Given the description of an element on the screen output the (x, y) to click on. 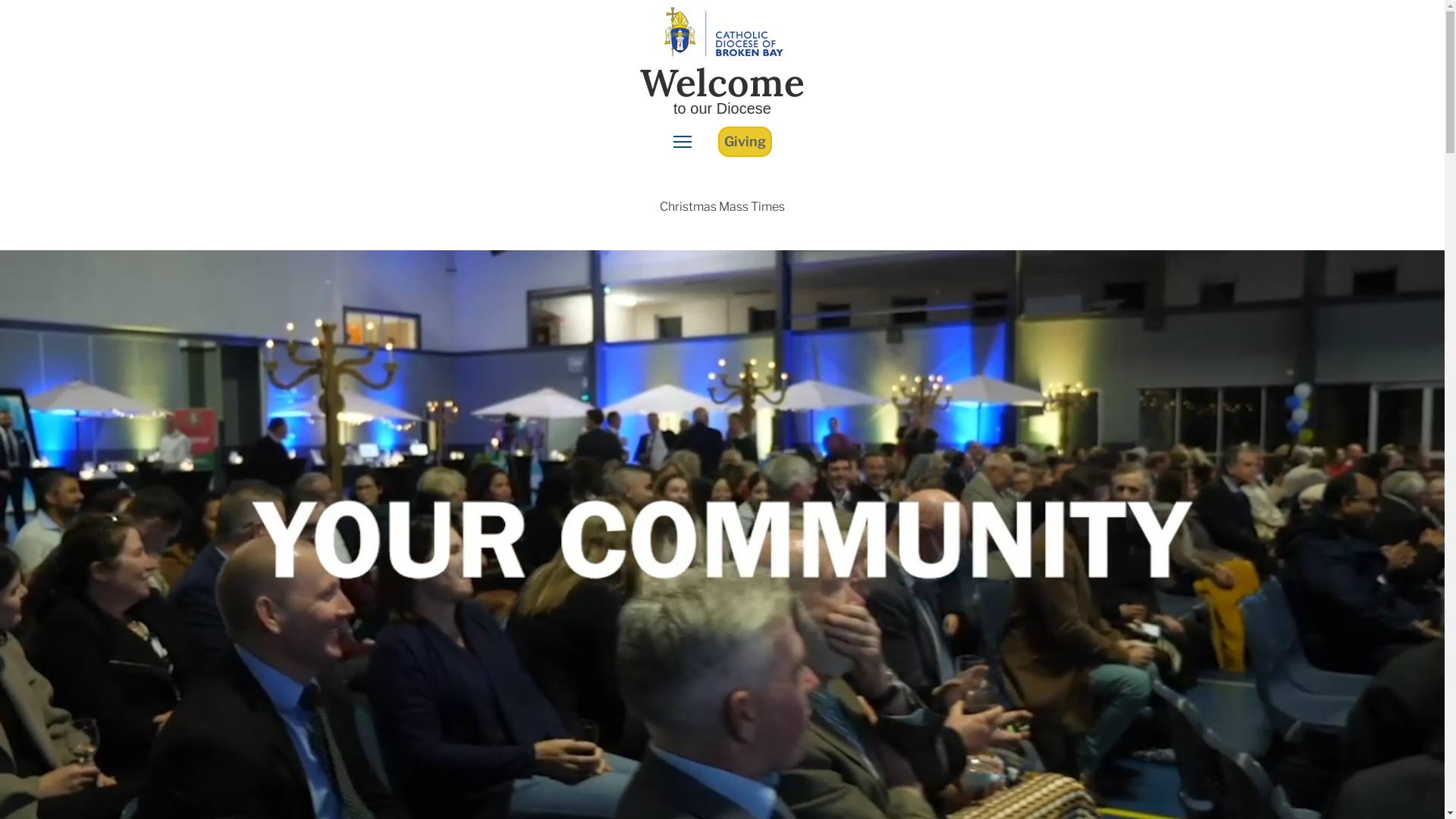
Giving Element type: text (744, 141)
Christmas Mass Times Element type: text (722, 207)
